Given the description of an element on the screen output the (x, y) to click on. 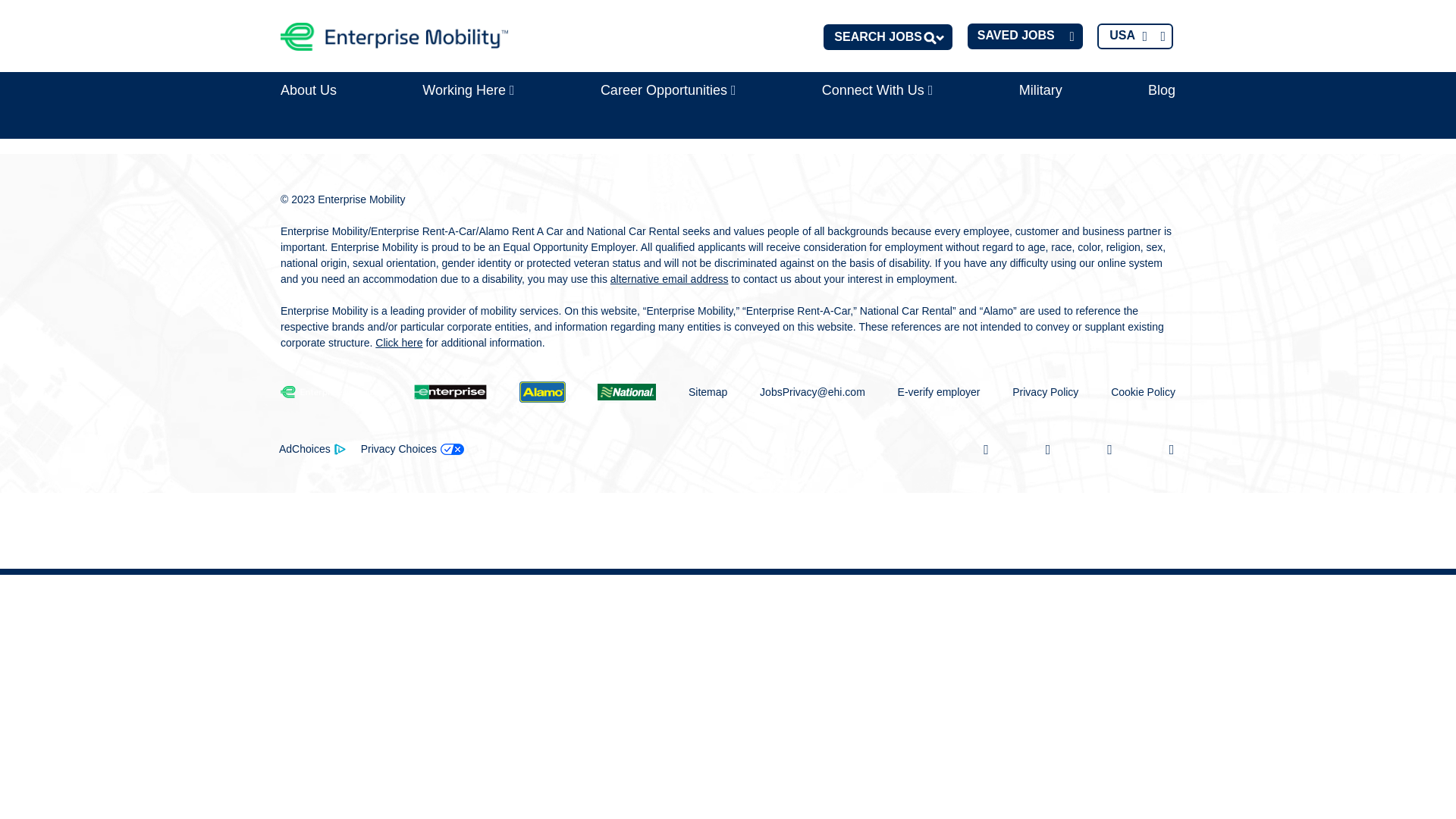
SAVED JOBS (1025, 36)
About Us (308, 90)
Connect With Us  (876, 90)
USA (1135, 36)
SEARCH JOBS (888, 36)
Home (394, 36)
Career Opportunities  (668, 90)
Working Here  (467, 90)
